Given the description of an element on the screen output the (x, y) to click on. 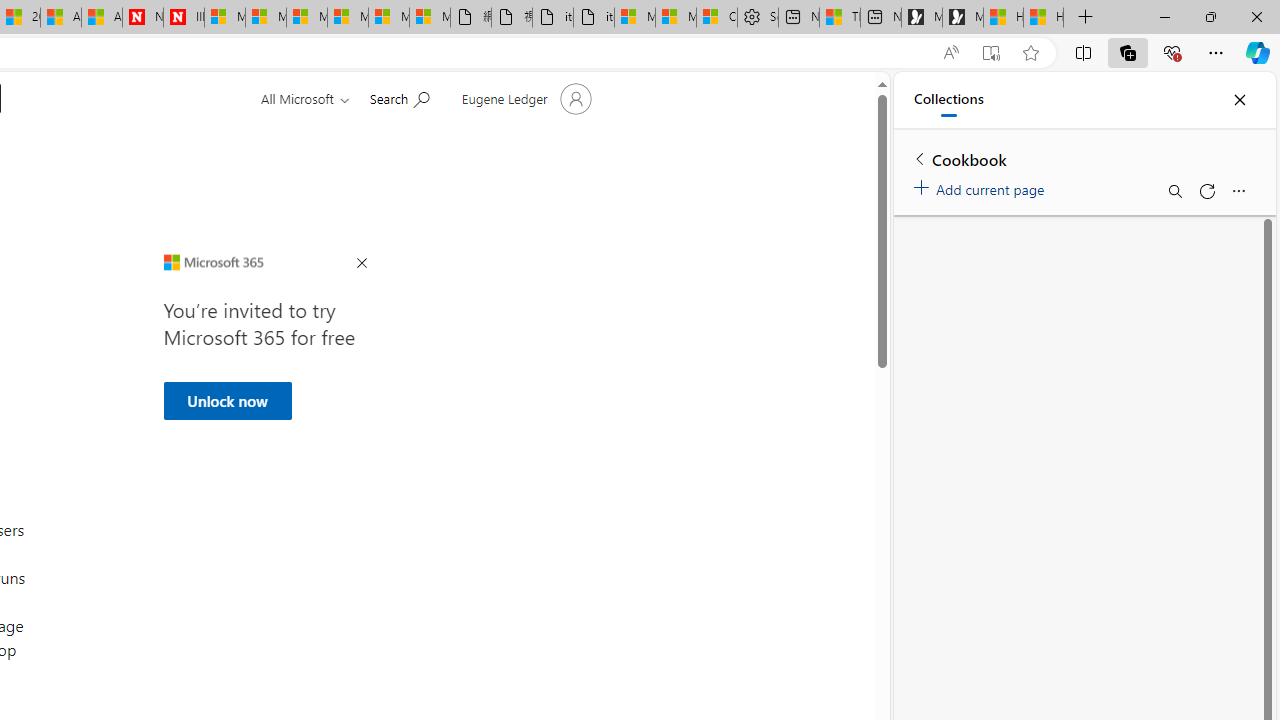
Three Ways To Stop Sweating So Much (840, 17)
Unlock now (226, 399)
Consumer Health Data Privacy Policy (717, 17)
Add current page (982, 186)
Newsweek - News, Analysis, Politics, Business, Technology (142, 17)
itconcepthk.com/projector_solutions.mp4 (593, 17)
